Given the description of an element on the screen output the (x, y) to click on. 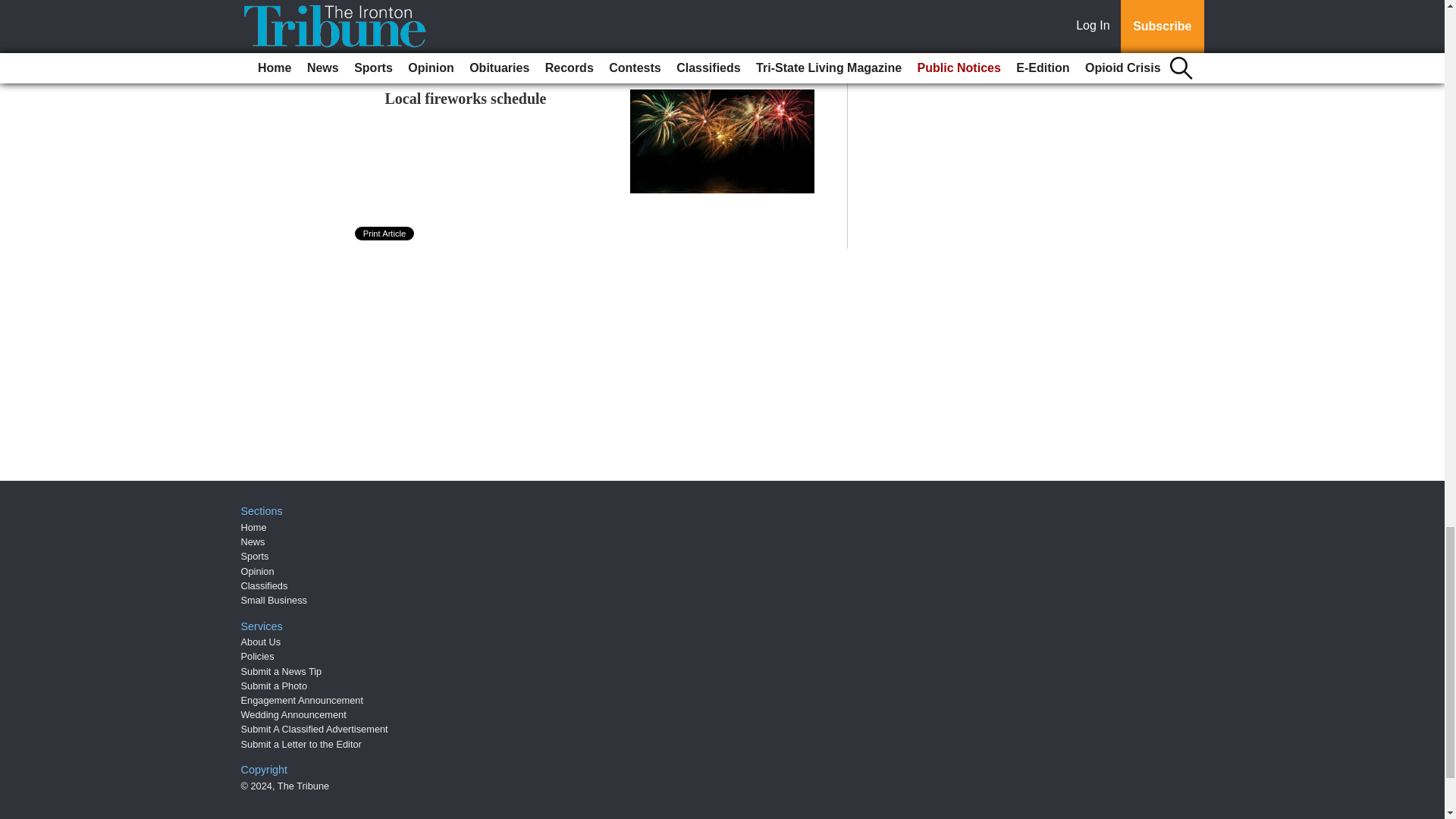
Policies (258, 655)
Local fireworks schedule (466, 98)
News (252, 541)
Local fireworks schedule (466, 98)
Sports (255, 555)
Home (253, 527)
About Us (261, 641)
Classifieds (264, 585)
Print Article (384, 233)
Small Business (274, 600)
Opinion (258, 571)
